Given the description of an element on the screen output the (x, y) to click on. 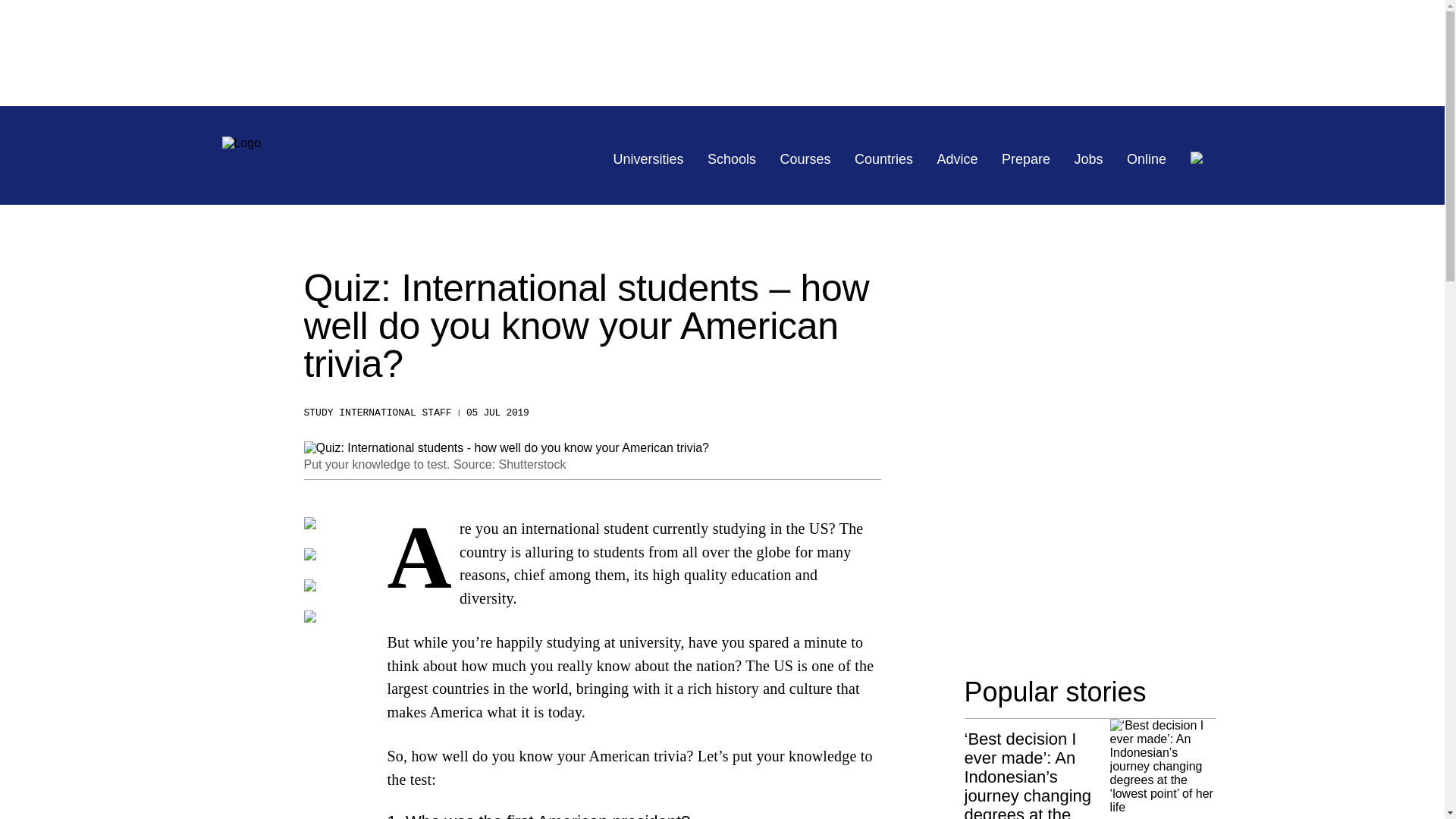
Universities (648, 159)
Schools (731, 159)
Courses (805, 159)
Online (1146, 159)
Advice (957, 159)
Prepare (1025, 159)
Countries (883, 159)
STUDY INTERNATIONAL STAFF (376, 412)
Jobs (1088, 159)
